Given the description of an element on the screen output the (x, y) to click on. 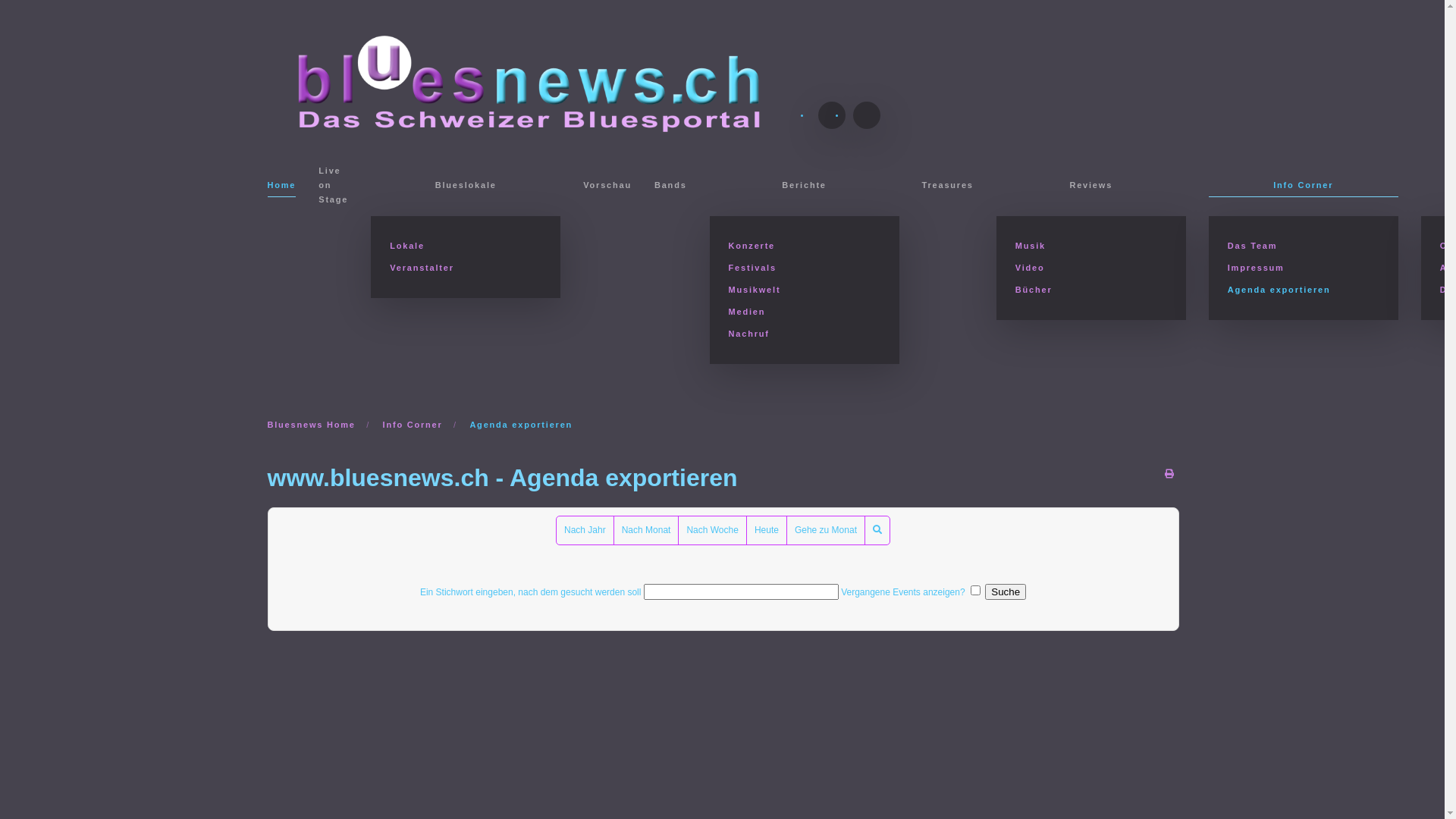
Gehe zu Monat Element type: text (825, 530)
Vorschau Element type: text (607, 185)
Musik Element type: text (1091, 246)
Nach Monat Element type: text (646, 530)
Reviews Element type: text (1091, 185)
Konzerte Element type: text (804, 246)
Video Element type: text (1091, 268)
Medien Element type: text (804, 312)
Das Team Element type: text (1303, 246)
Suche Element type: hover (877, 530)
Treasures Element type: text (947, 185)
Berichte Element type: text (804, 185)
Nach Jahr Element type: text (584, 530)
Home Element type: text (280, 185)
Festivals Element type: text (804, 268)
Agenda exportieren Element type: text (1303, 290)
Info Corner Element type: text (1303, 185)
Heute Element type: text (766, 530)
Bluesnews Home Element type: text (310, 424)
Lokale Element type: text (465, 246)
Blueslokale Element type: text (465, 185)
Nach Woche Element type: text (711, 530)
Info Corner Element type: text (412, 424)
Suche Element type: text (1005, 591)
Drucken Element type: hover (1168, 473)
Bands Element type: text (670, 185)
Nachruf Element type: text (804, 334)
Impressum Element type: text (1303, 268)
Live on Stage Element type: text (333, 185)
Veranstalter Element type: text (465, 268)
Musikwelt Element type: text (804, 290)
